Given the description of an element on the screen output the (x, y) to click on. 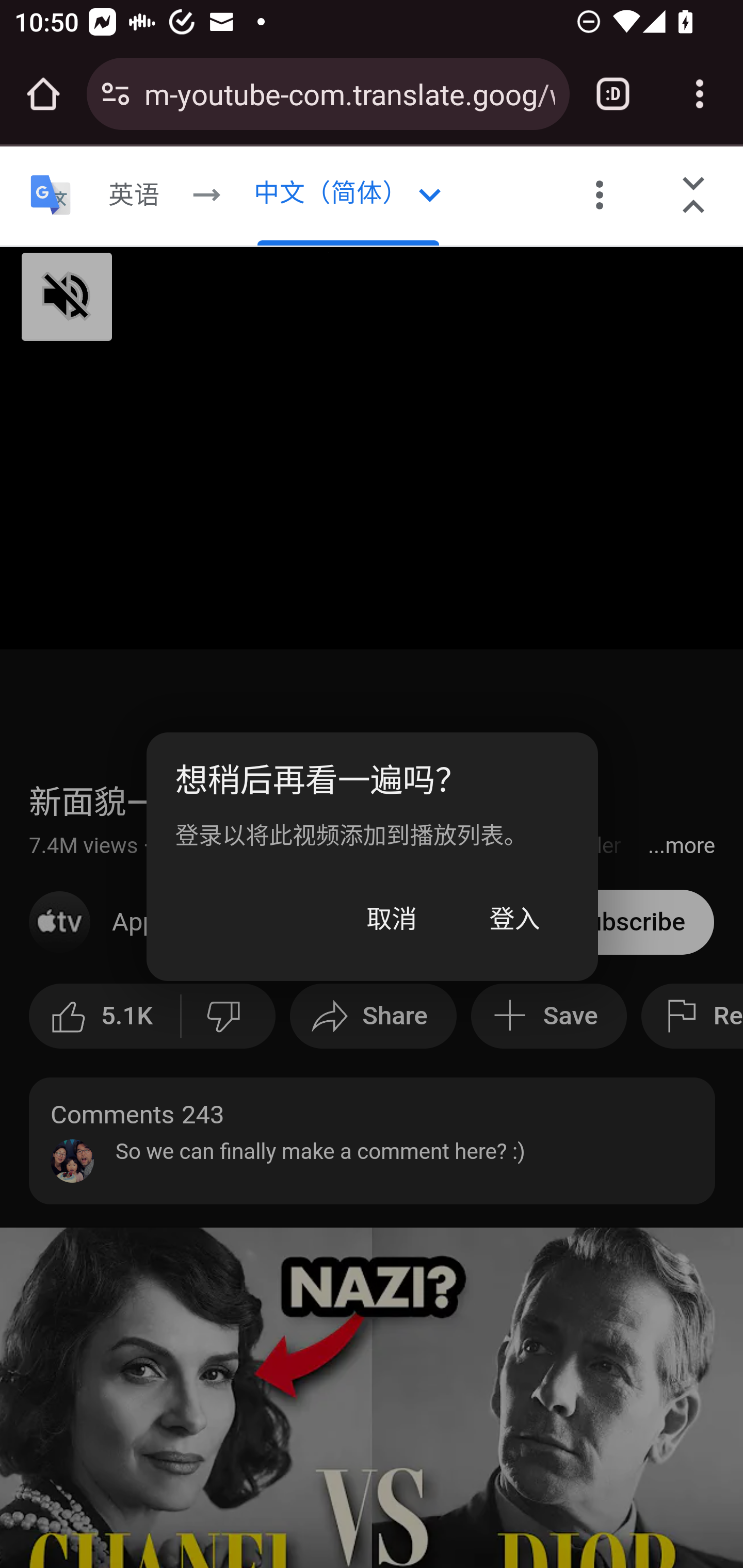
Open the home page (43, 93)
Connection is secure (115, 93)
Switch or close tabs (612, 93)
Customize and control Google Chrome (699, 93)
取消 (391, 919)
登入 (514, 919)
